Given the description of an element on the screen output the (x, y) to click on. 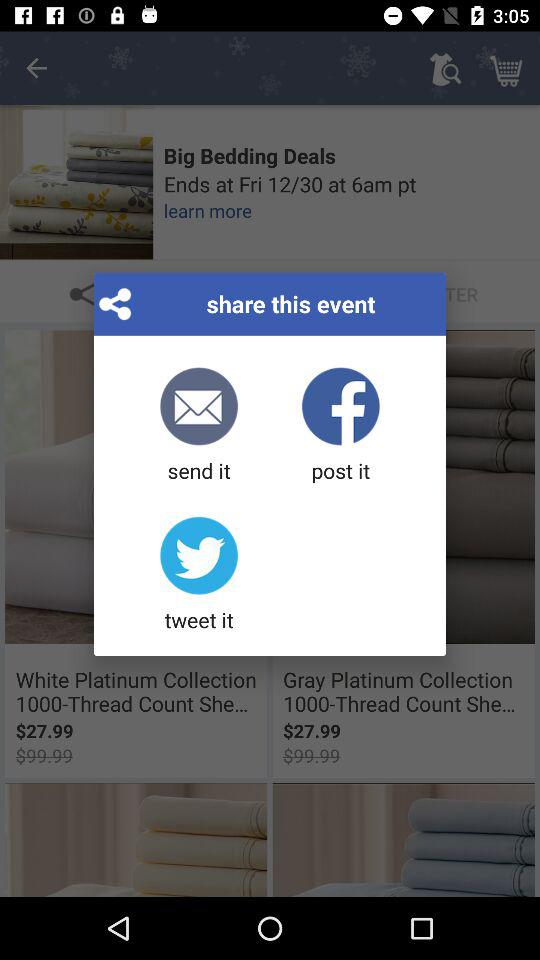
scroll until the post it item (340, 425)
